Given the description of an element on the screen output the (x, y) to click on. 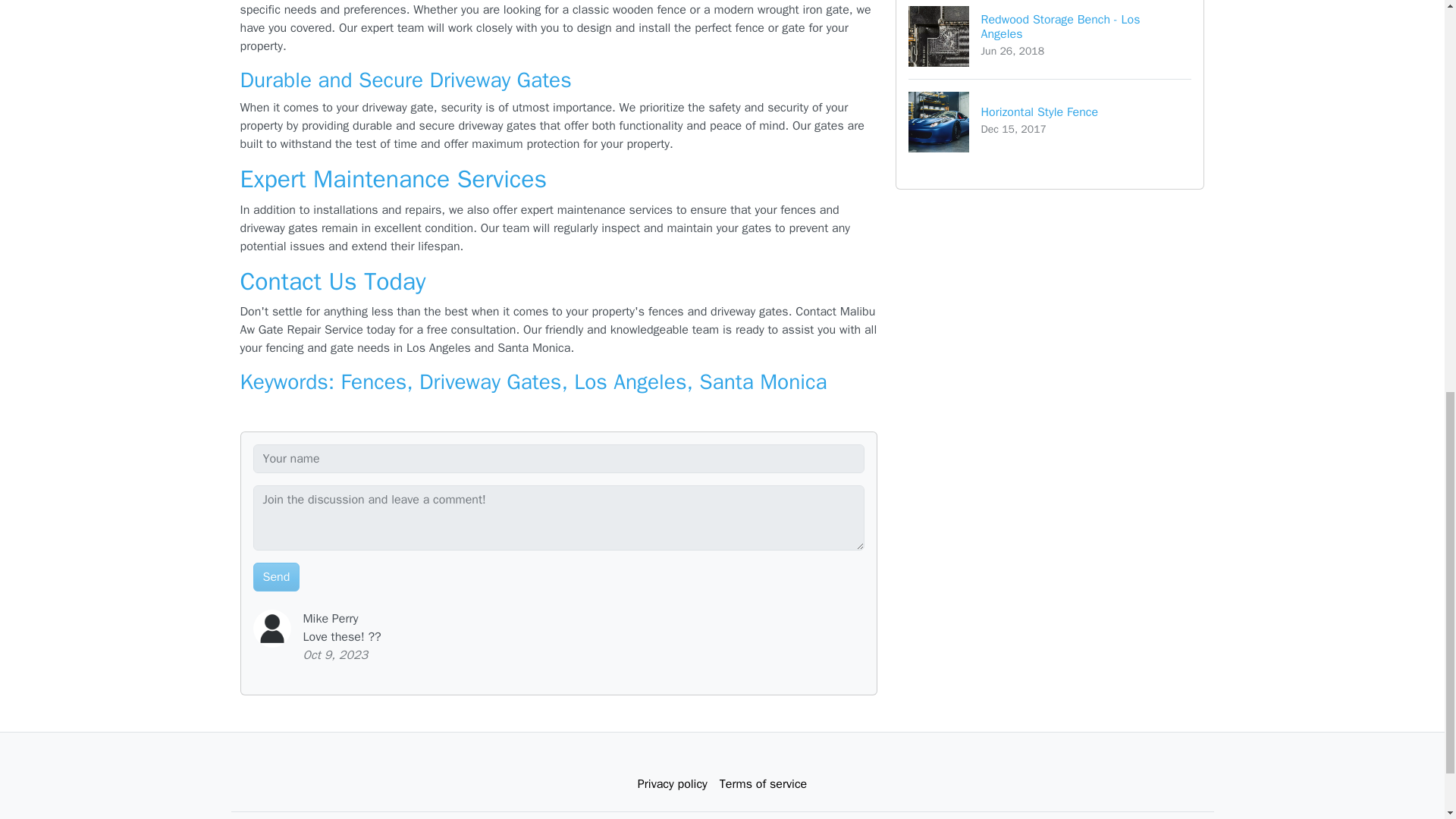
Send (276, 576)
Terms of service (762, 784)
Privacy policy (672, 784)
Send (276, 576)
